Given the description of an element on the screen output the (x, y) to click on. 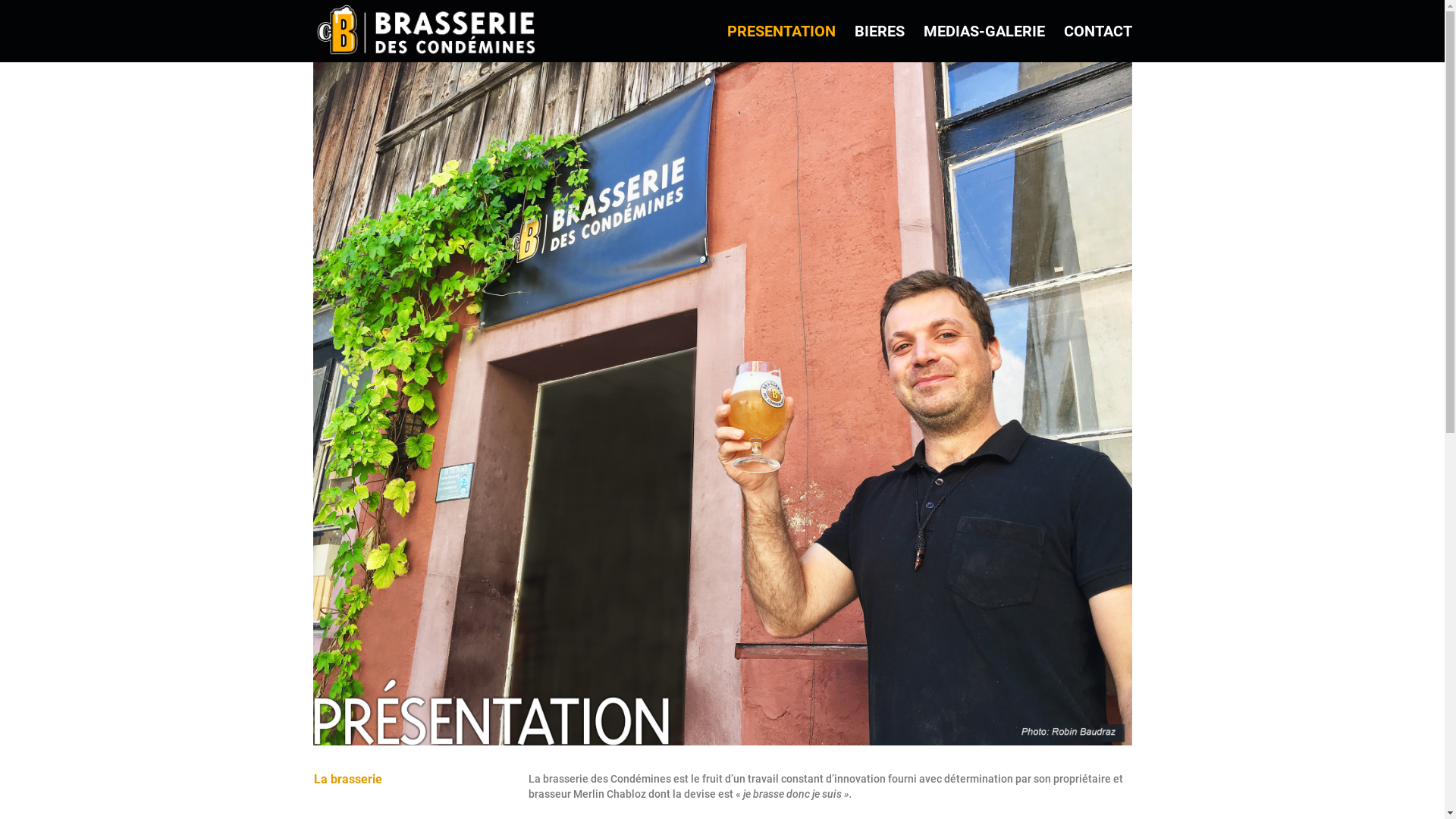
PRESENTATION Element type: text (780, 43)
CONTACT Element type: text (1097, 43)
PRESENTATION - BRASSERIE CONDEMINES - Merlin Chabloz Element type: hover (721, 403)
MEDIAS-GALERIE Element type: text (983, 43)
BIERES Element type: text (878, 43)
